Given the description of an element on the screen output the (x, y) to click on. 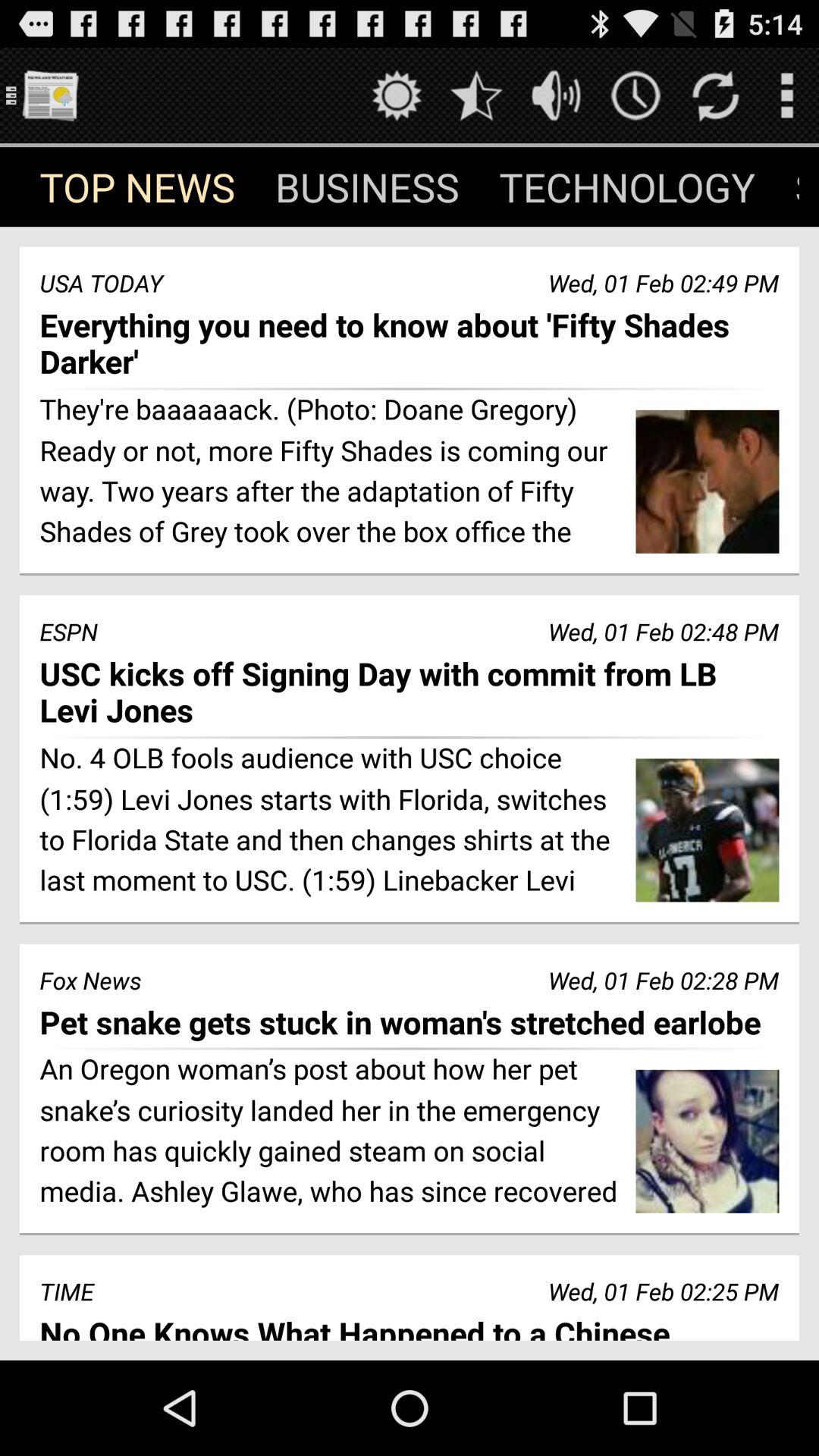
refresh (715, 95)
